Given the description of an element on the screen output the (x, y) to click on. 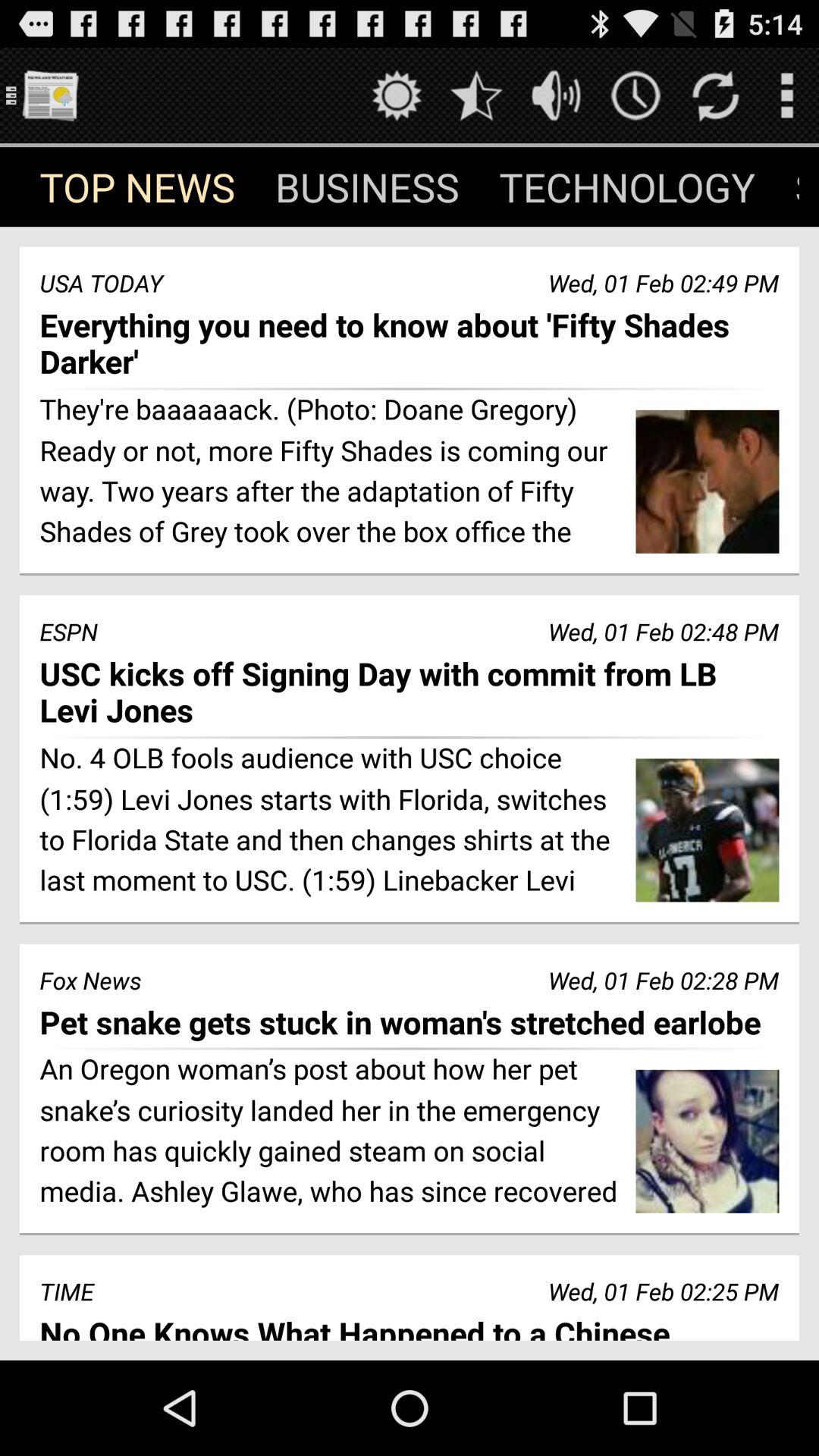
refresh (715, 95)
